Given the description of an element on the screen output the (x, y) to click on. 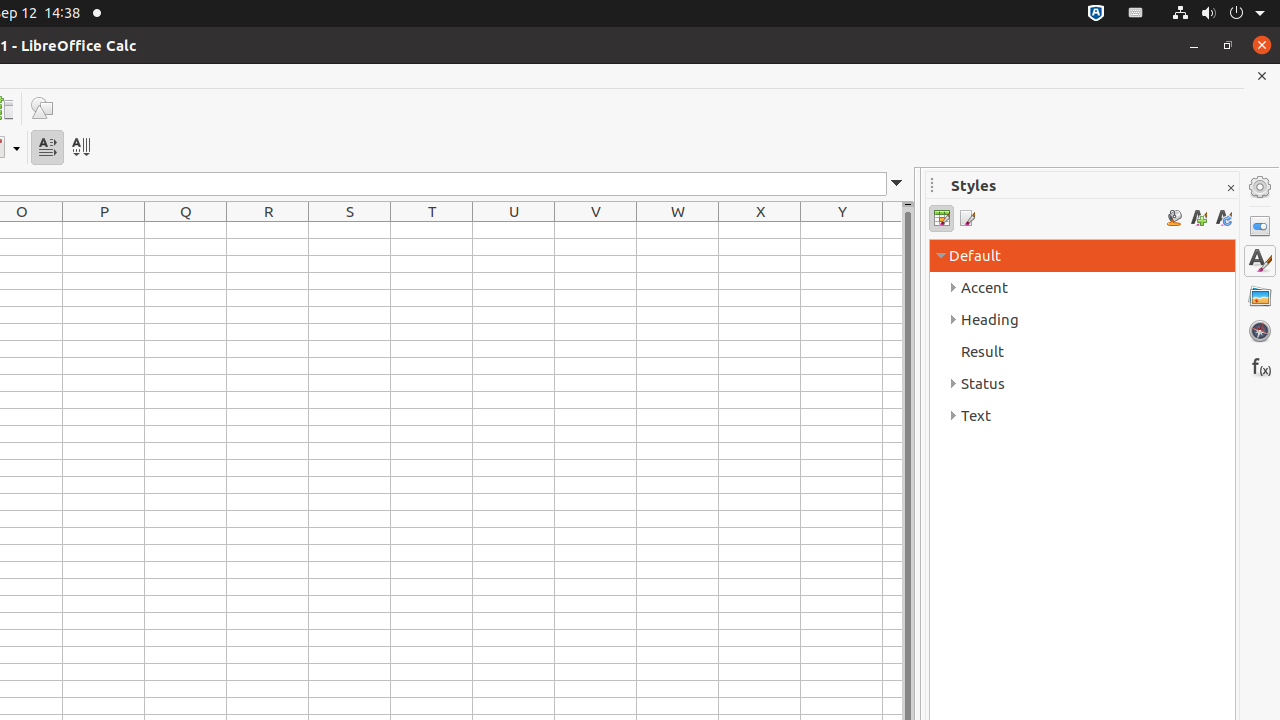
Text direction from top to bottom Element type: toggle-button (80, 147)
X1 Element type: table-cell (760, 230)
Z1 Element type: table-cell (892, 230)
Navigator Element type: radio-button (1260, 331)
